Given the description of an element on the screen output the (x, y) to click on. 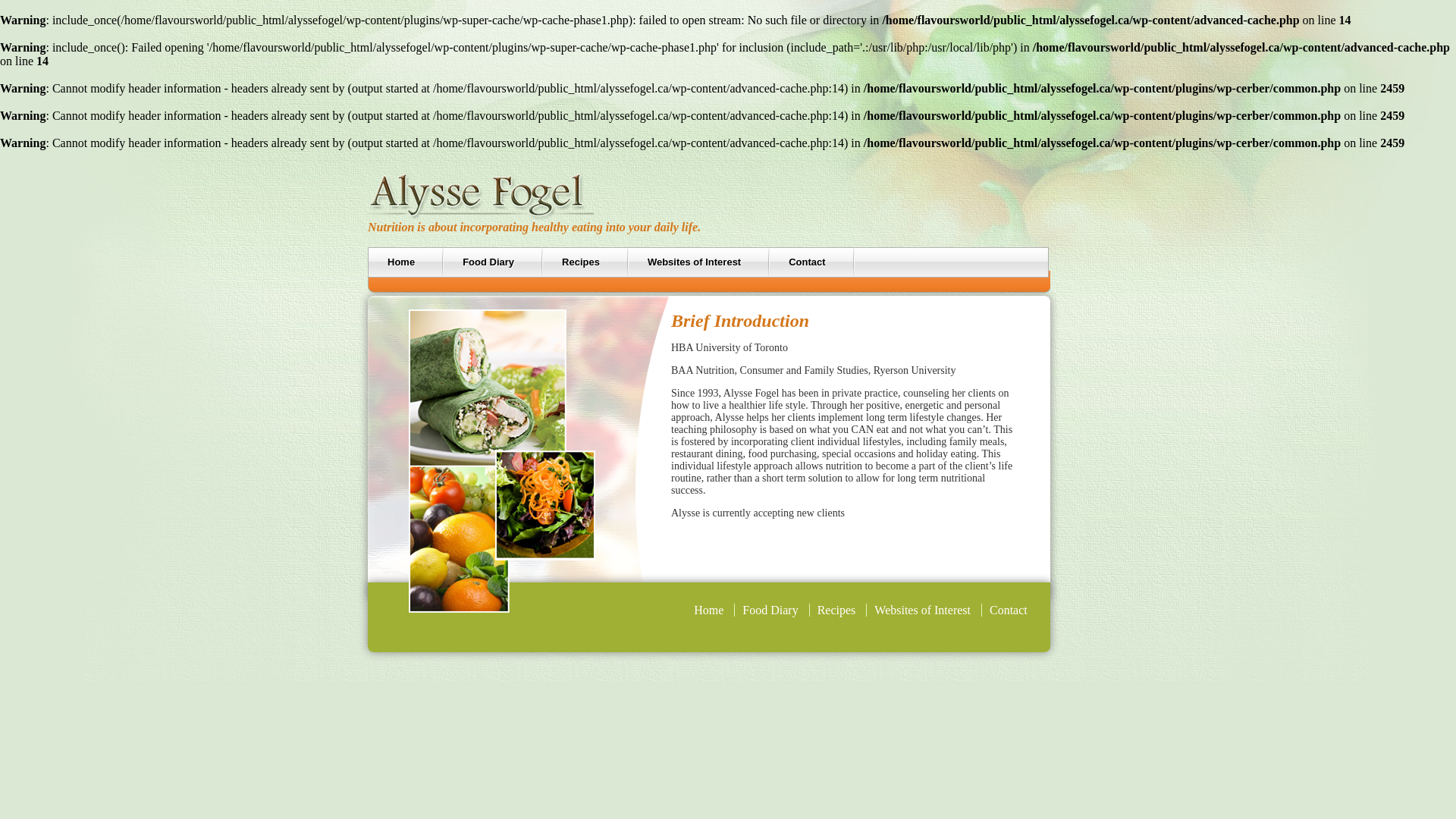
Websites of Interest Element type: text (922, 609)
Recipes Element type: text (585, 262)
Home Element type: text (405, 262)
Home Element type: text (708, 609)
Contact Element type: text (811, 262)
Websites of Interest Element type: text (698, 262)
Food Diary Element type: text (769, 609)
Recipes Element type: text (836, 609)
Contact Element type: text (1008, 609)
Food Diary Element type: text (492, 262)
